Given the description of an element on the screen output the (x, y) to click on. 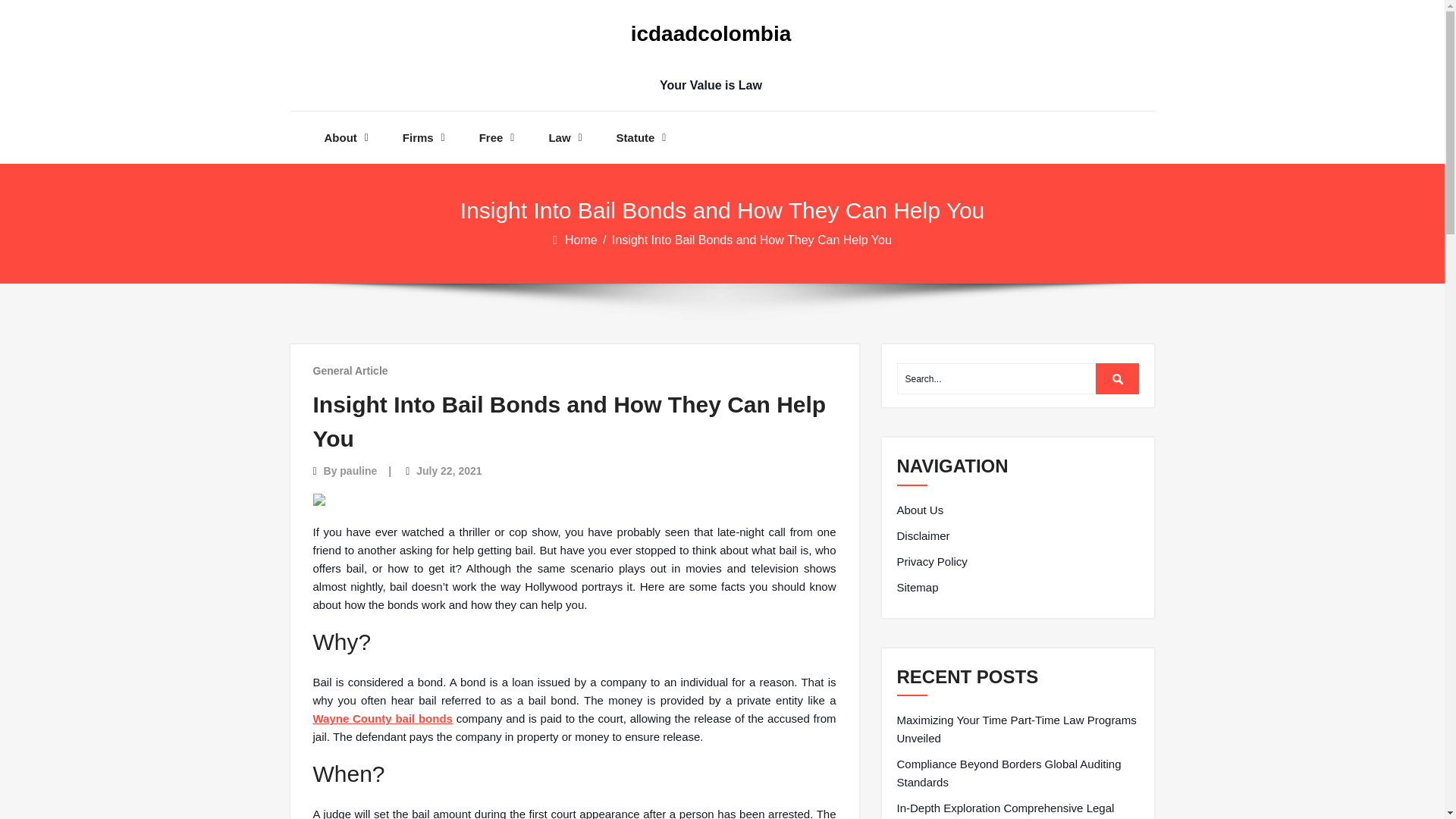
pauline (358, 470)
icdaadcolombia (710, 34)
Wayne County bail bonds (382, 717)
Search (1118, 378)
July 22, 2021 (448, 470)
General Article (350, 370)
Home (581, 239)
Search (1118, 378)
